Given the description of an element on the screen output the (x, y) to click on. 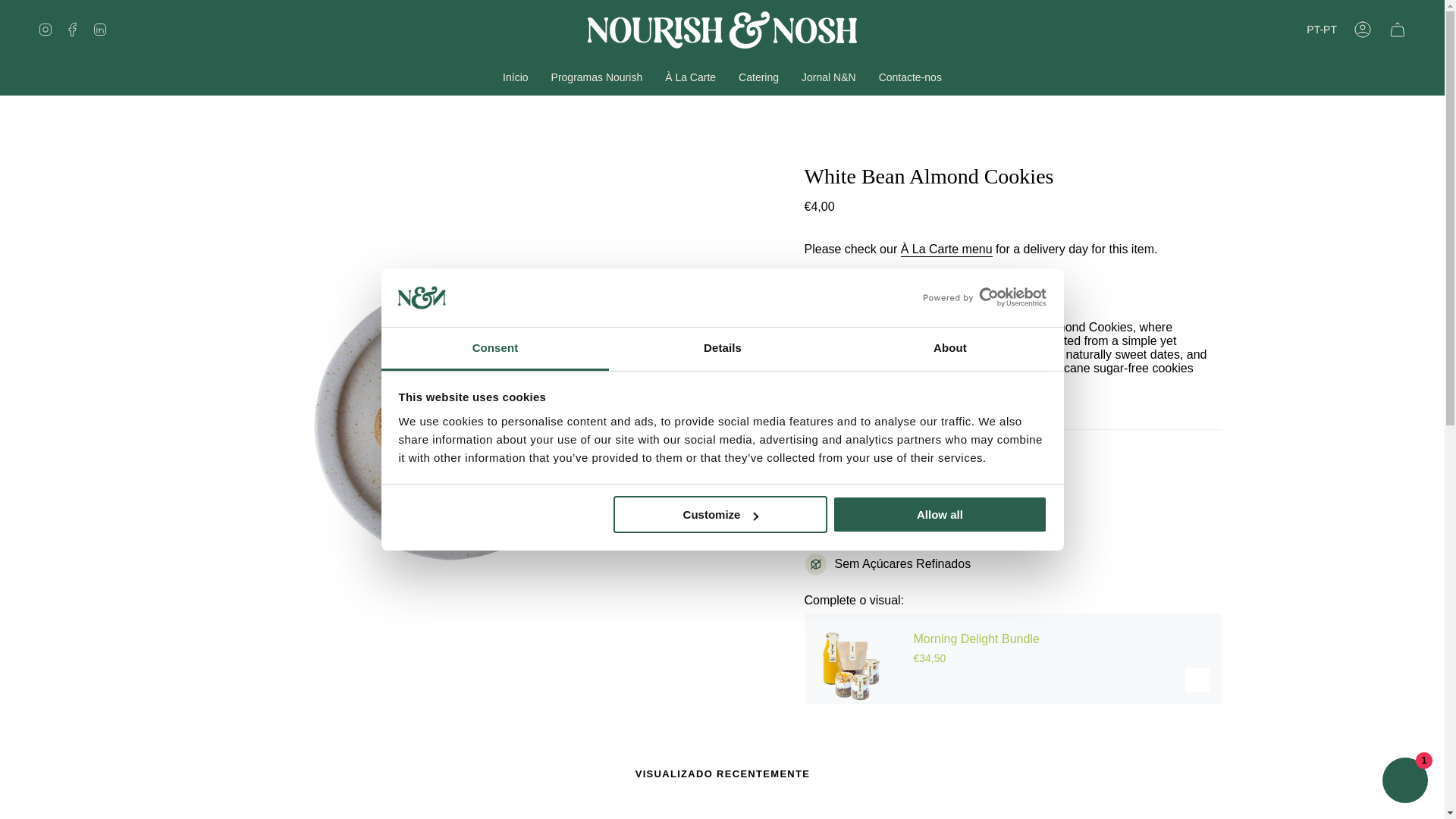
About (948, 349)
Carrinho (1397, 29)
Consent (494, 349)
Minha conta (1362, 29)
Details (721, 349)
